Given the description of an element on the screen output the (x, y) to click on. 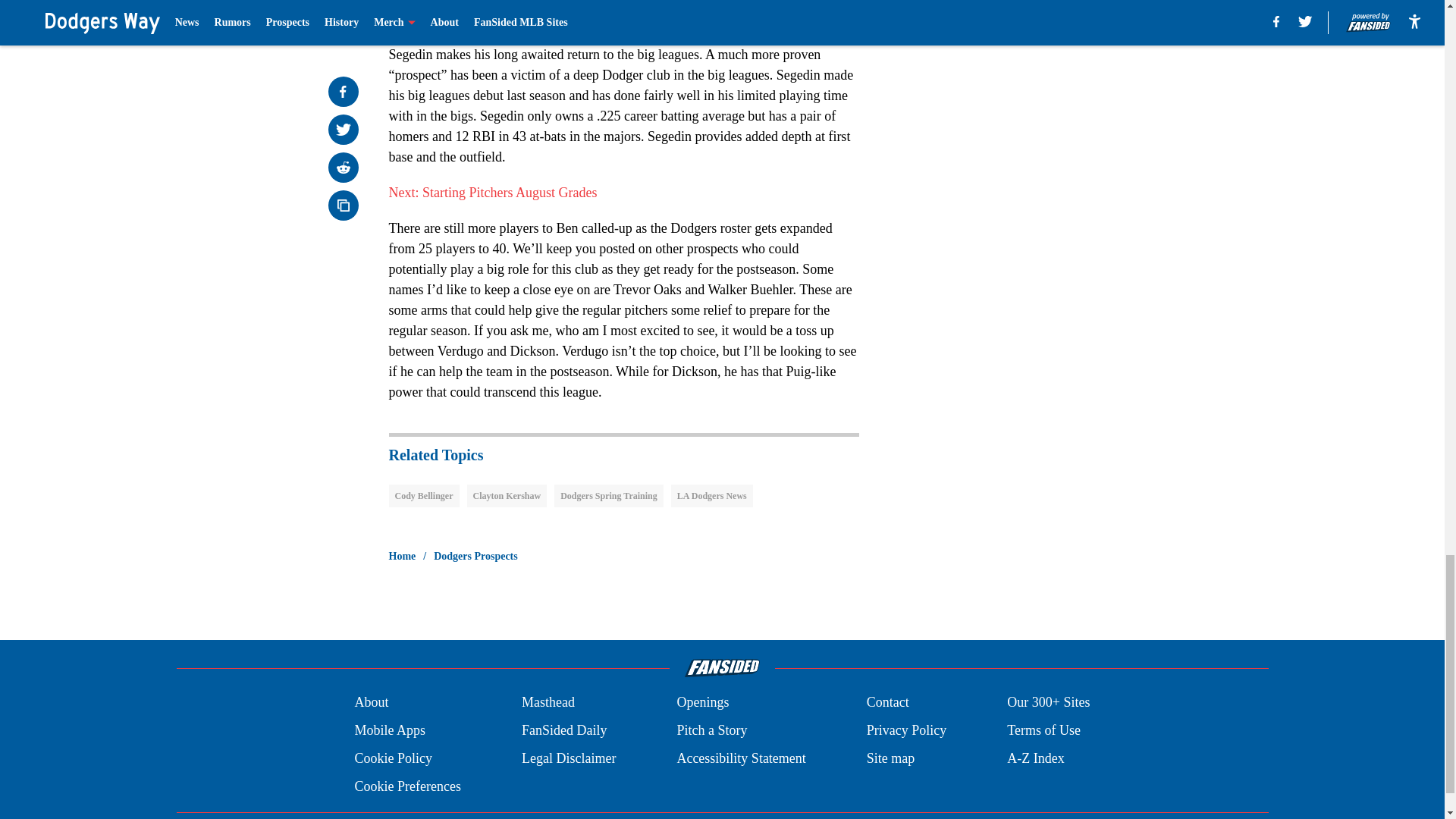
Home (401, 556)
Openings (703, 702)
Terms of Use (1043, 730)
Contact (887, 702)
Mobile Apps (389, 730)
Pitch a Story (711, 730)
Dodgers Prospects (475, 556)
Privacy Policy (906, 730)
Legal Disclaimer (568, 758)
Masthead (548, 702)
Clayton Kershaw (507, 495)
Accessibility Statement (741, 758)
LA Dodgers News (711, 495)
Dodgers Spring Training (608, 495)
About (370, 702)
